Given the description of an element on the screen output the (x, y) to click on. 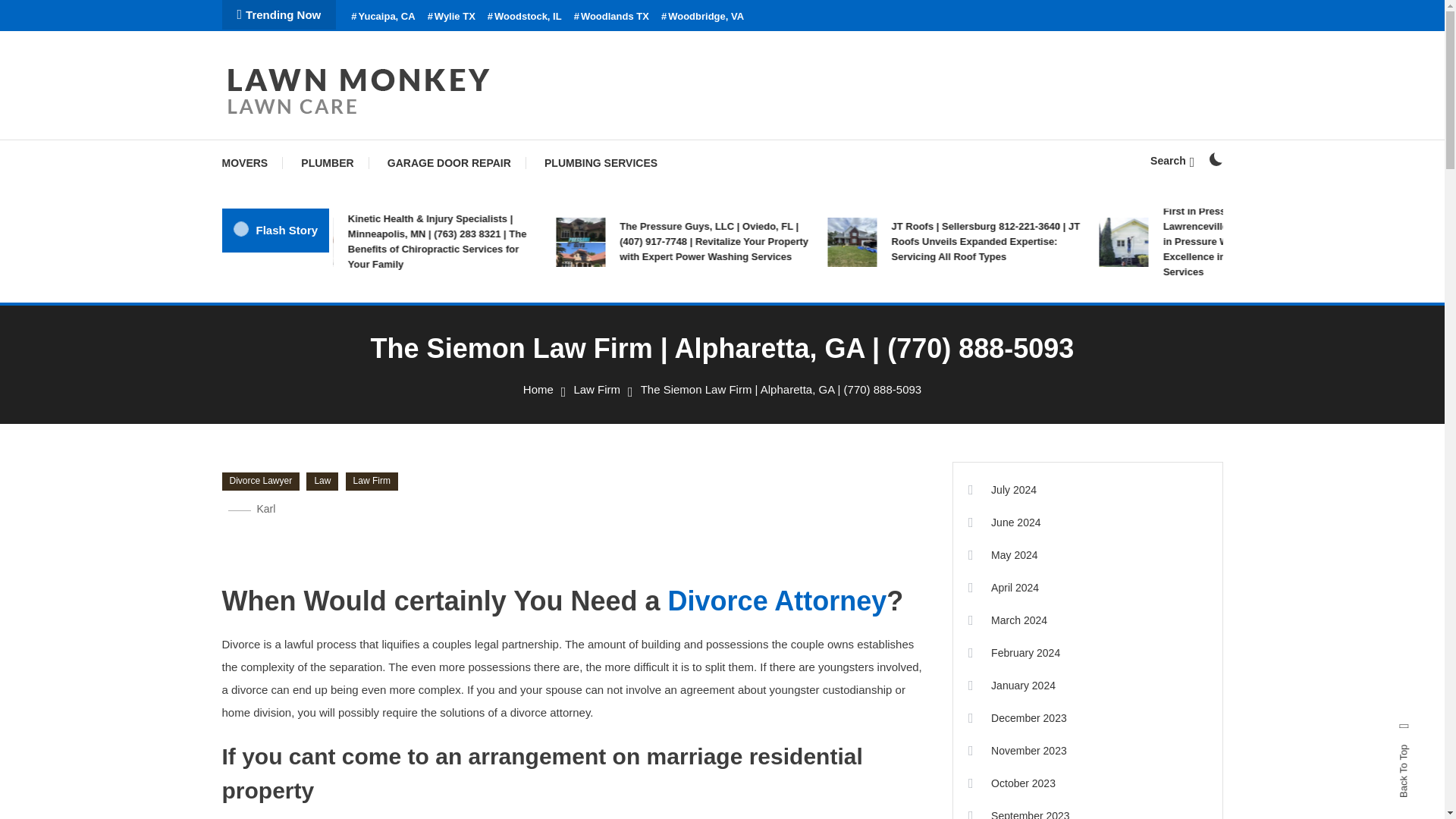
MOVERS (251, 162)
Law Firm (371, 481)
PLUMBING SERVICES (600, 162)
PLUMBER (326, 162)
Yucaipa, CA (382, 16)
Law (321, 481)
Divorce Lawyer (260, 481)
Search (1171, 160)
Law Firm (596, 389)
Search (768, 434)
Wylie TX (452, 16)
GARAGE DOOR REPAIR (448, 162)
Woodbridge, VA (702, 16)
Woodlands TX (611, 16)
on (1215, 159)
